Given the description of an element on the screen output the (x, y) to click on. 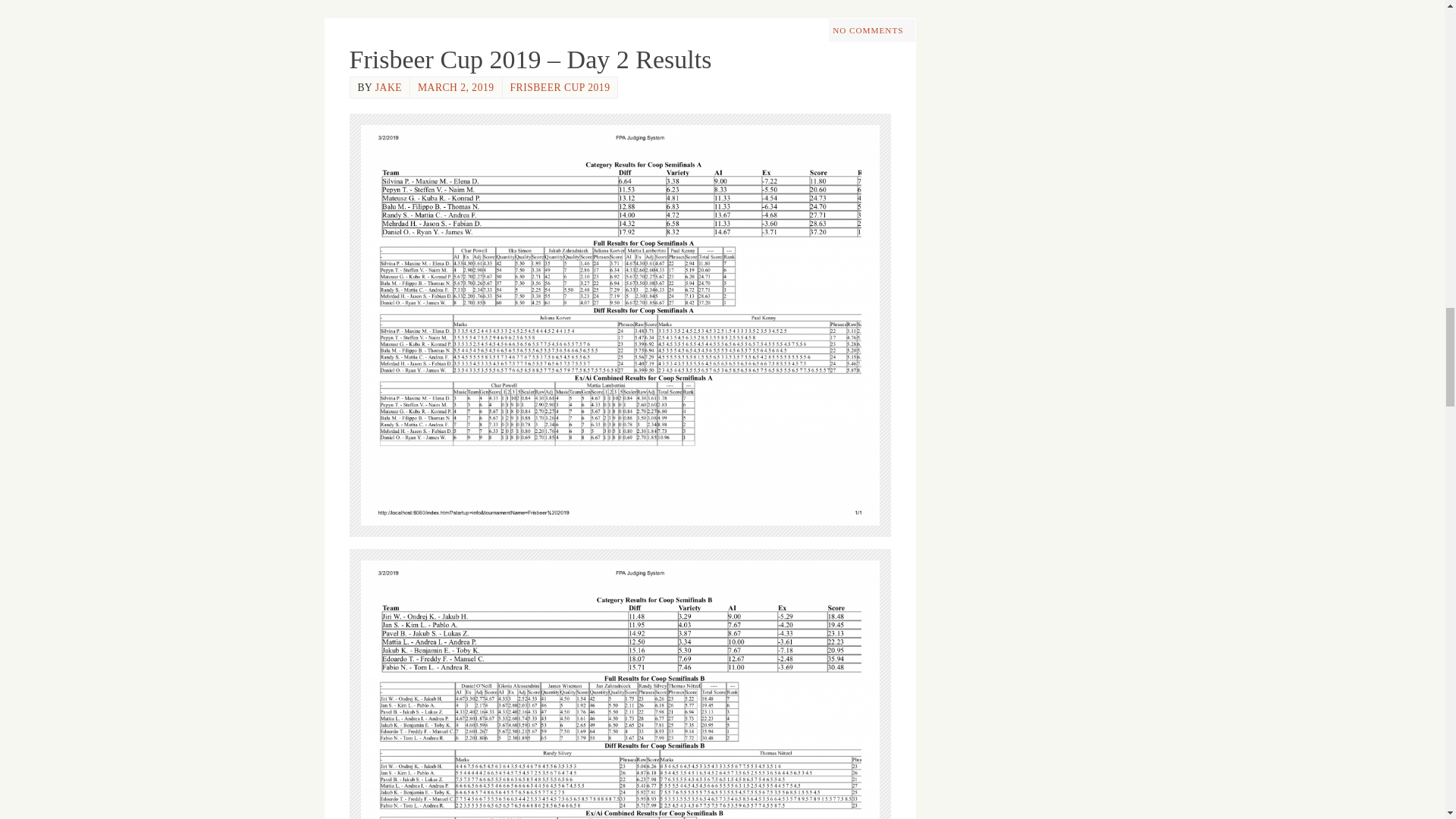
View all posts by Jake (388, 87)
